Given the description of an element on the screen output the (x, y) to click on. 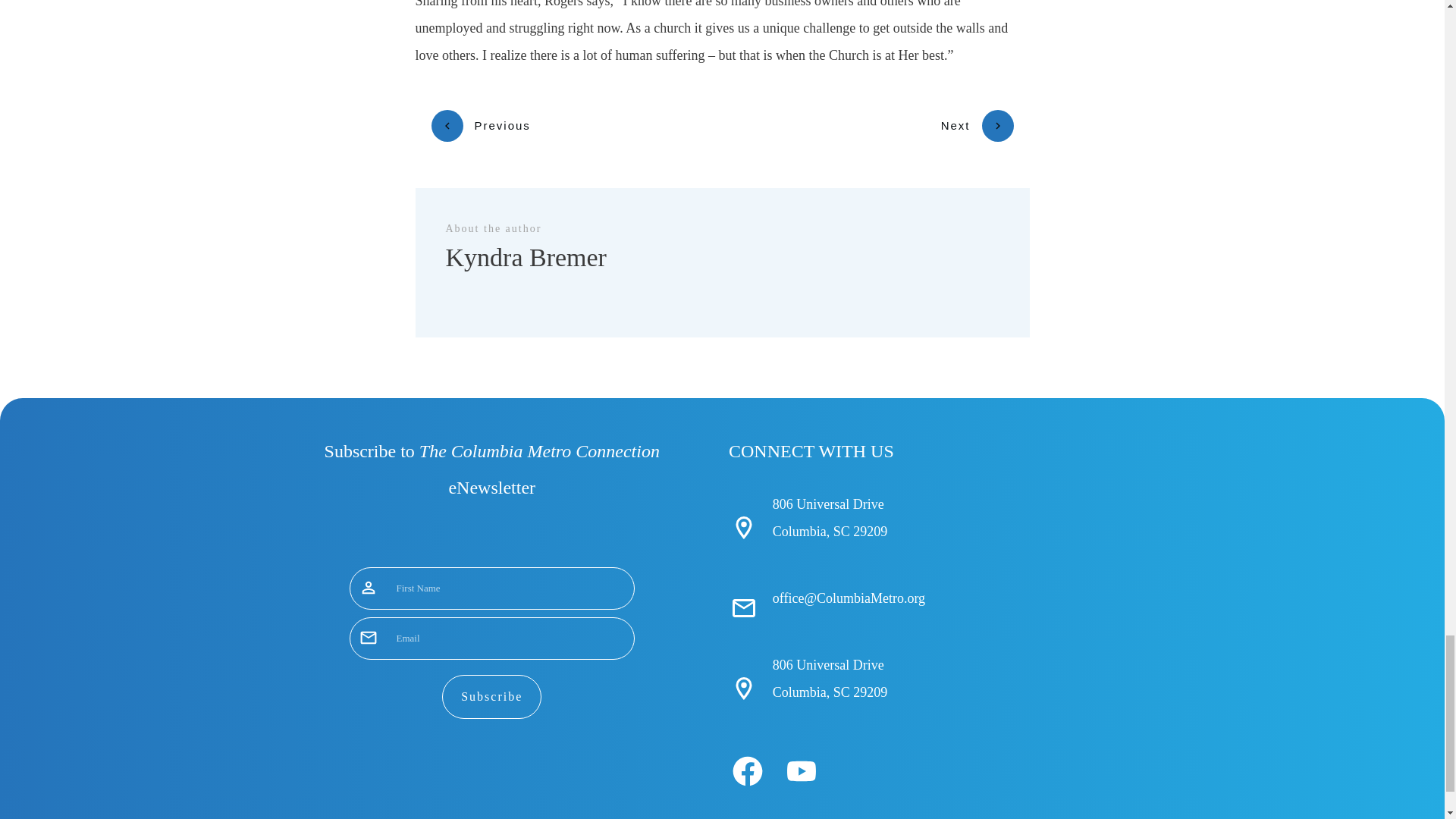
Subscribe (491, 696)
Next (976, 125)
Previous (479, 125)
